Given the description of an element on the screen output the (x, y) to click on. 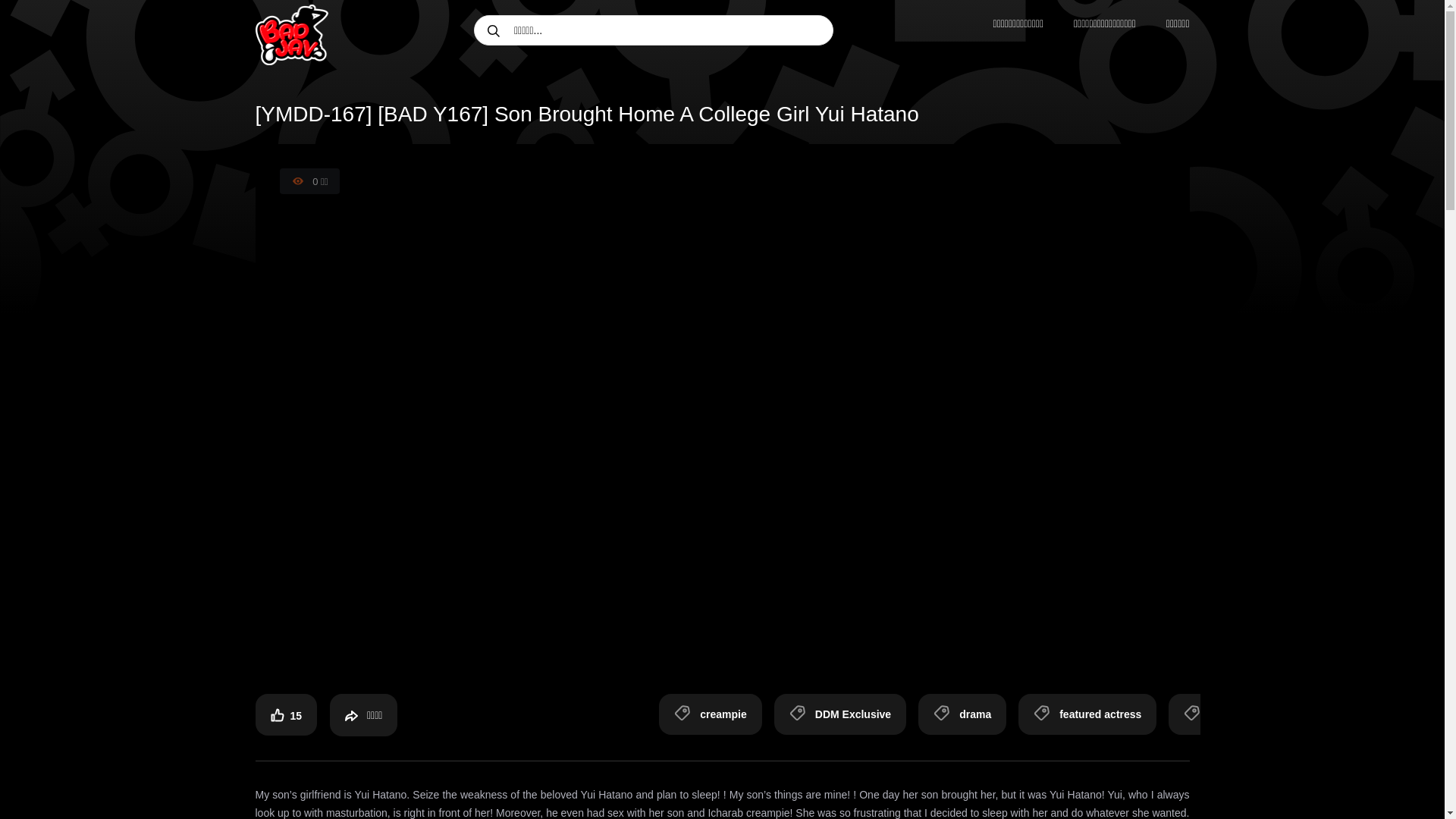
creampie (710, 712)
featured actress (1086, 712)
Hi-def (1212, 712)
DDM Exclusive (839, 712)
drama (962, 712)
Badjav.com (290, 34)
drama (962, 712)
featured actress (1086, 712)
creampie (710, 712)
15 (285, 713)
DDM Exclusive (839, 712)
